Given the description of an element on the screen output the (x, y) to click on. 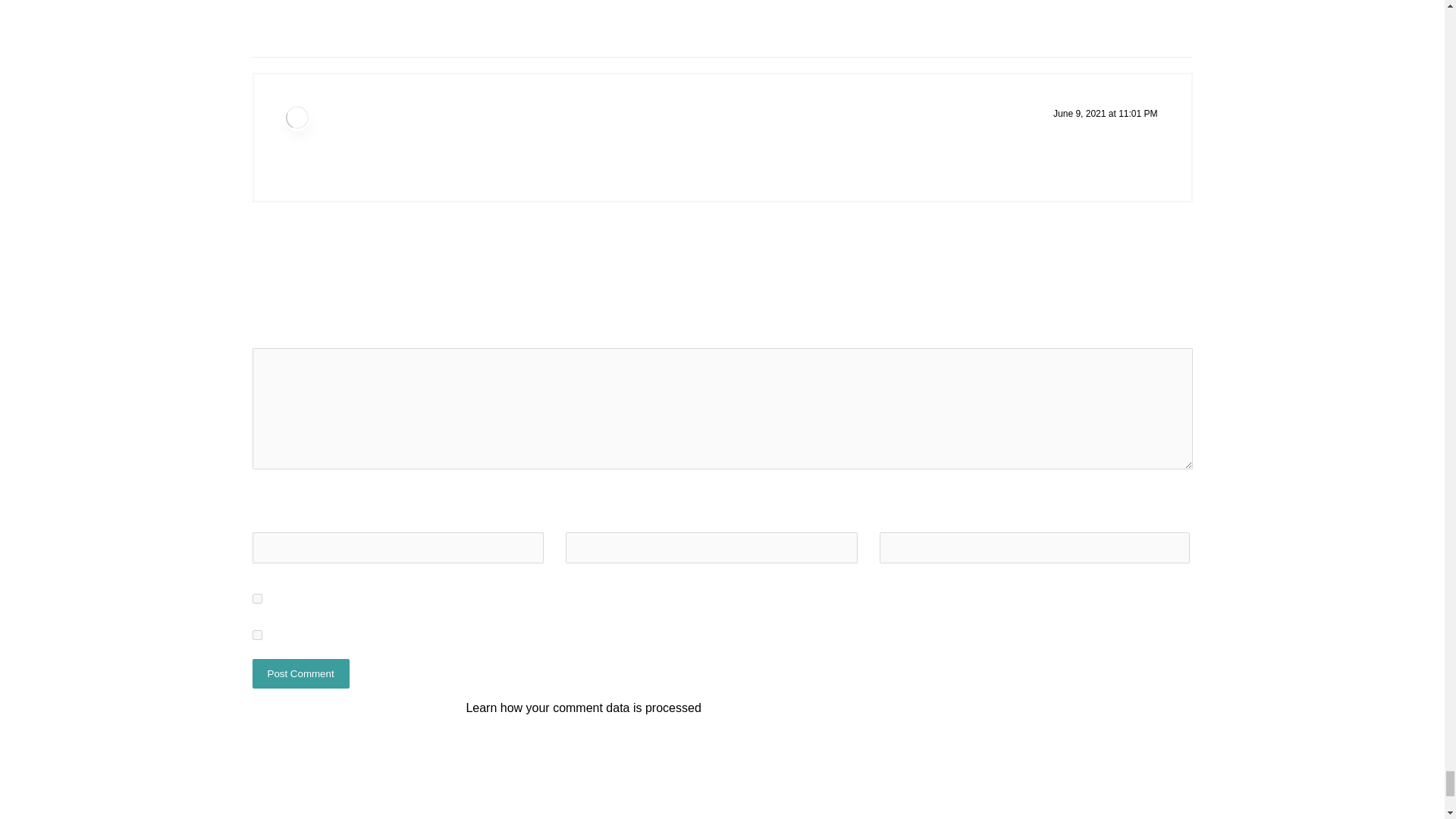
subscribe (256, 598)
subscribe (256, 634)
Post Comment (300, 672)
